Given the description of an element on the screen output the (x, y) to click on. 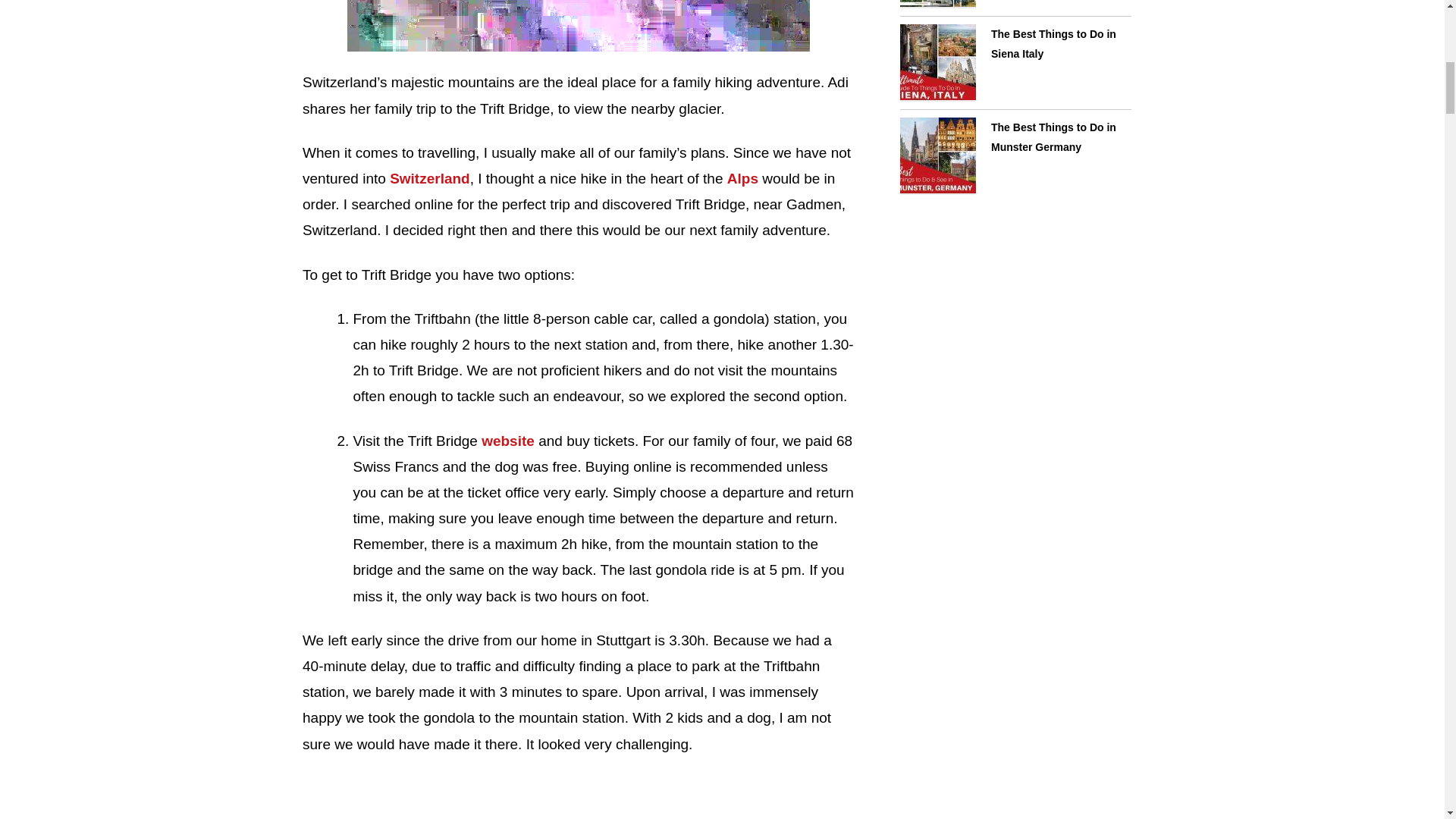
The Best Things to Do in Siena Italy (1053, 43)
The Best Things to Do in Siena Italy (937, 62)
The Ultimate Guide to Ramstein Germany (937, 4)
The Best Things to Do in Munster Germany (937, 155)
The Best Things to Do in Munster Germany (1053, 137)
